Given the description of an element on the screen output the (x, y) to click on. 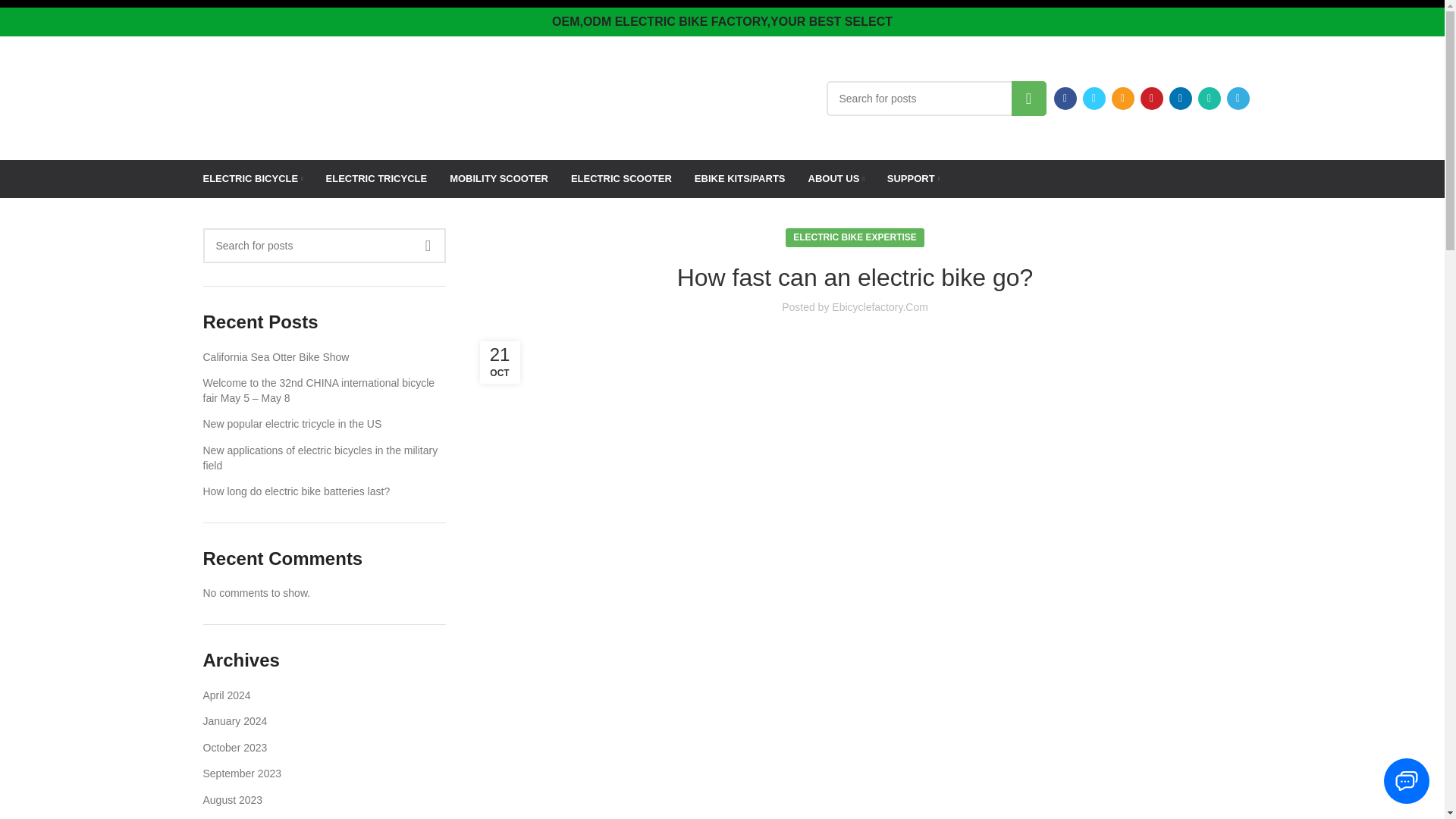
ELECTRIC TRICYCLE (377, 178)
SEARCH (1028, 97)
Search for posts (324, 245)
ABOUT US (836, 178)
ELECTRIC SCOOTER (620, 178)
SUPPORT (912, 178)
Search for posts (936, 97)
ELECTRIC BICYCLE (252, 178)
MOBILITY SCOOTER (498, 178)
